Given the description of an element on the screen output the (x, y) to click on. 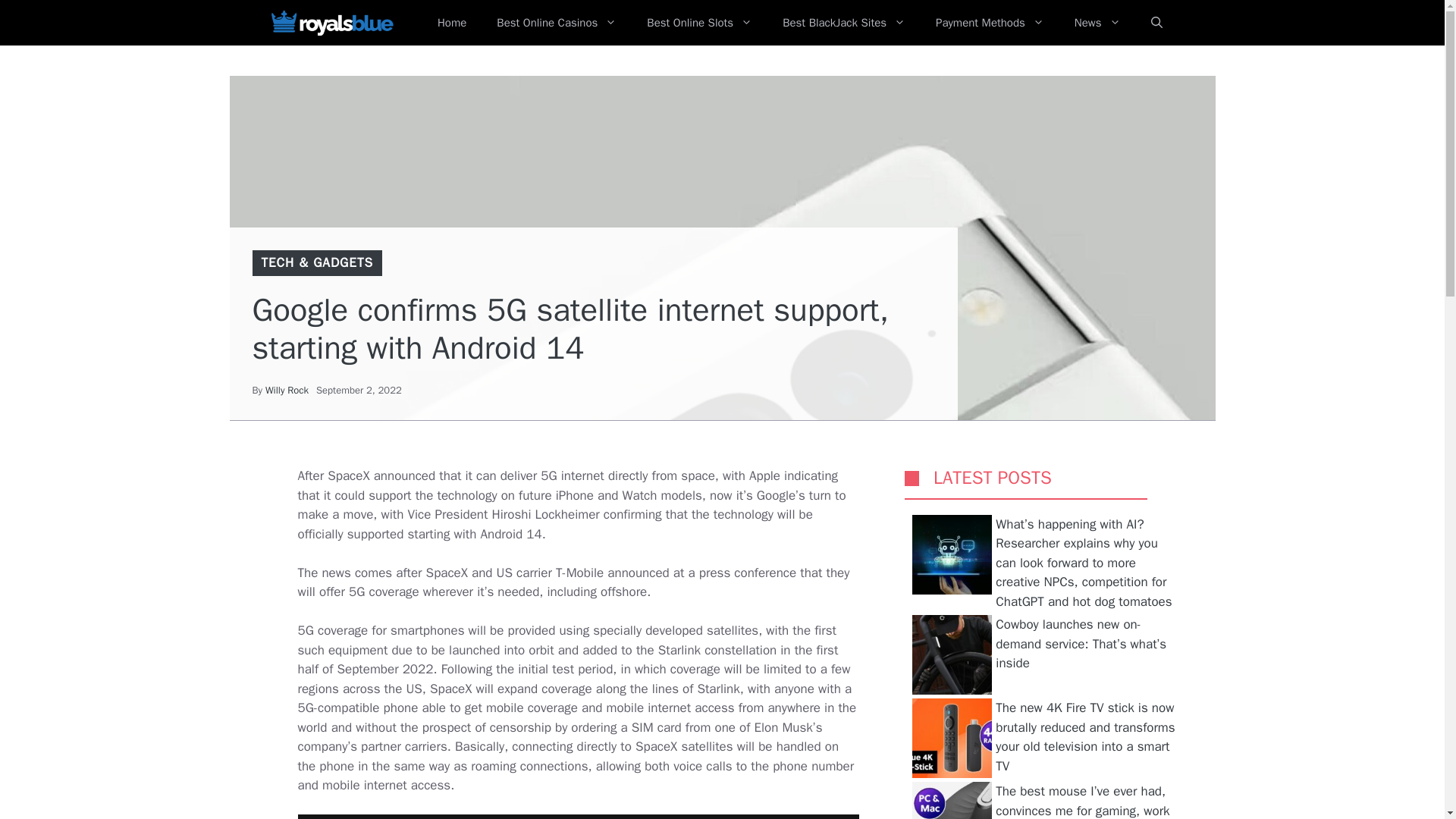
Home (451, 22)
Royals Blue (331, 22)
Best Online Slots (699, 22)
SORRY, YOUR BROWSER DOES NOT SUPPORT INLINE SVG. (911, 477)
Best BlackJack Sites (843, 22)
Best Online Casinos (556, 22)
Willy Rock (286, 390)
Payment Methods (989, 22)
News (1097, 22)
